Given the description of an element on the screen output the (x, y) to click on. 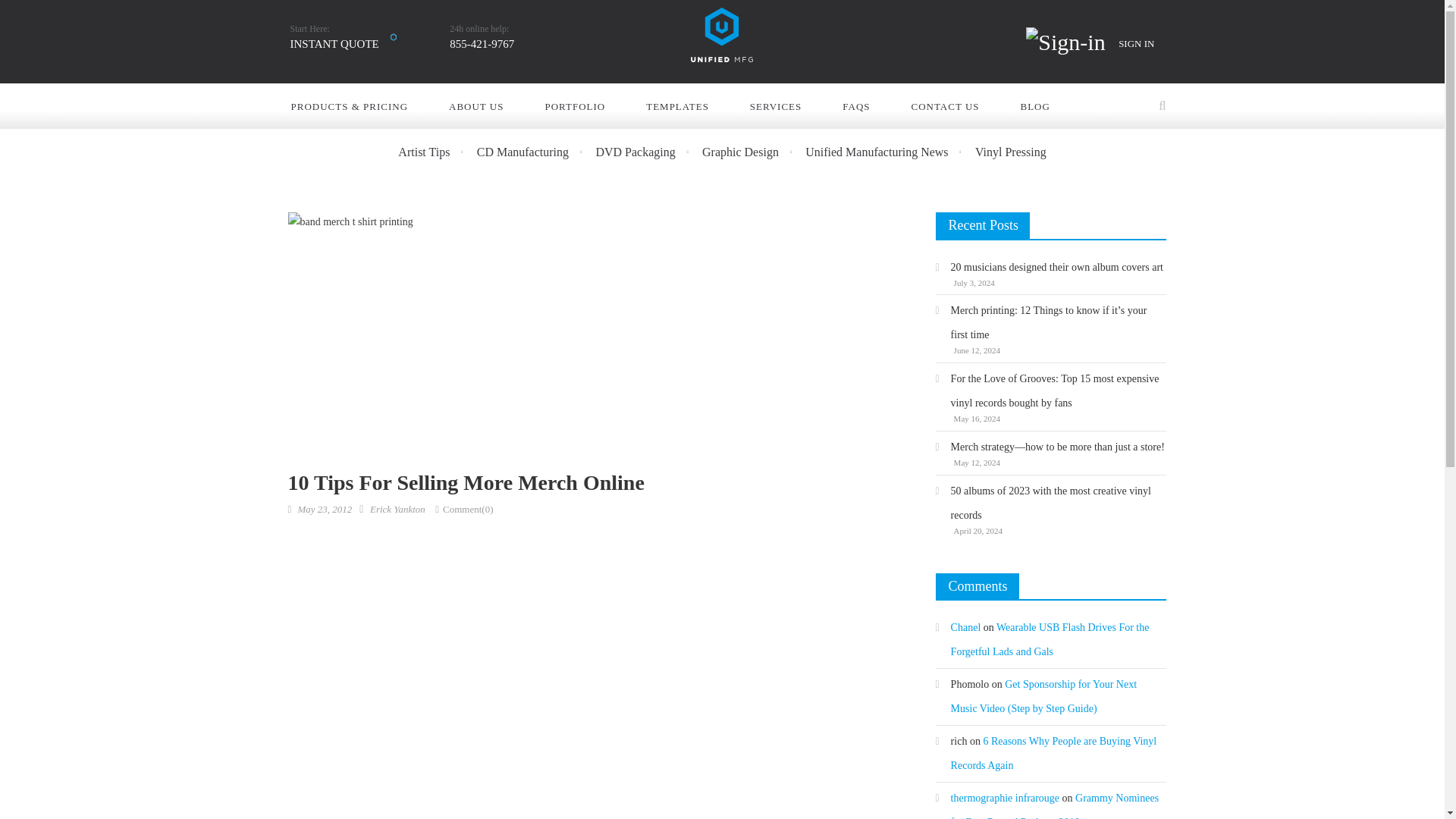
Unified Manufacturing News Posts (888, 151)
Graphic Design Posts (752, 151)
polygon (393, 36)
Unified Manufacturing (721, 32)
Unified Logo (697, 15)
Artist Tips Posts (435, 151)
PORTFOLIO (583, 106)
TEMPLATES (685, 106)
FAQS (864, 106)
CD Manufacturing Posts (534, 151)
Custom Vinyl Pressing (1010, 151)
ABOUT US (333, 39)
CONTACT US (484, 106)
Skip to content (954, 106)
